Given the description of an element on the screen output the (x, y) to click on. 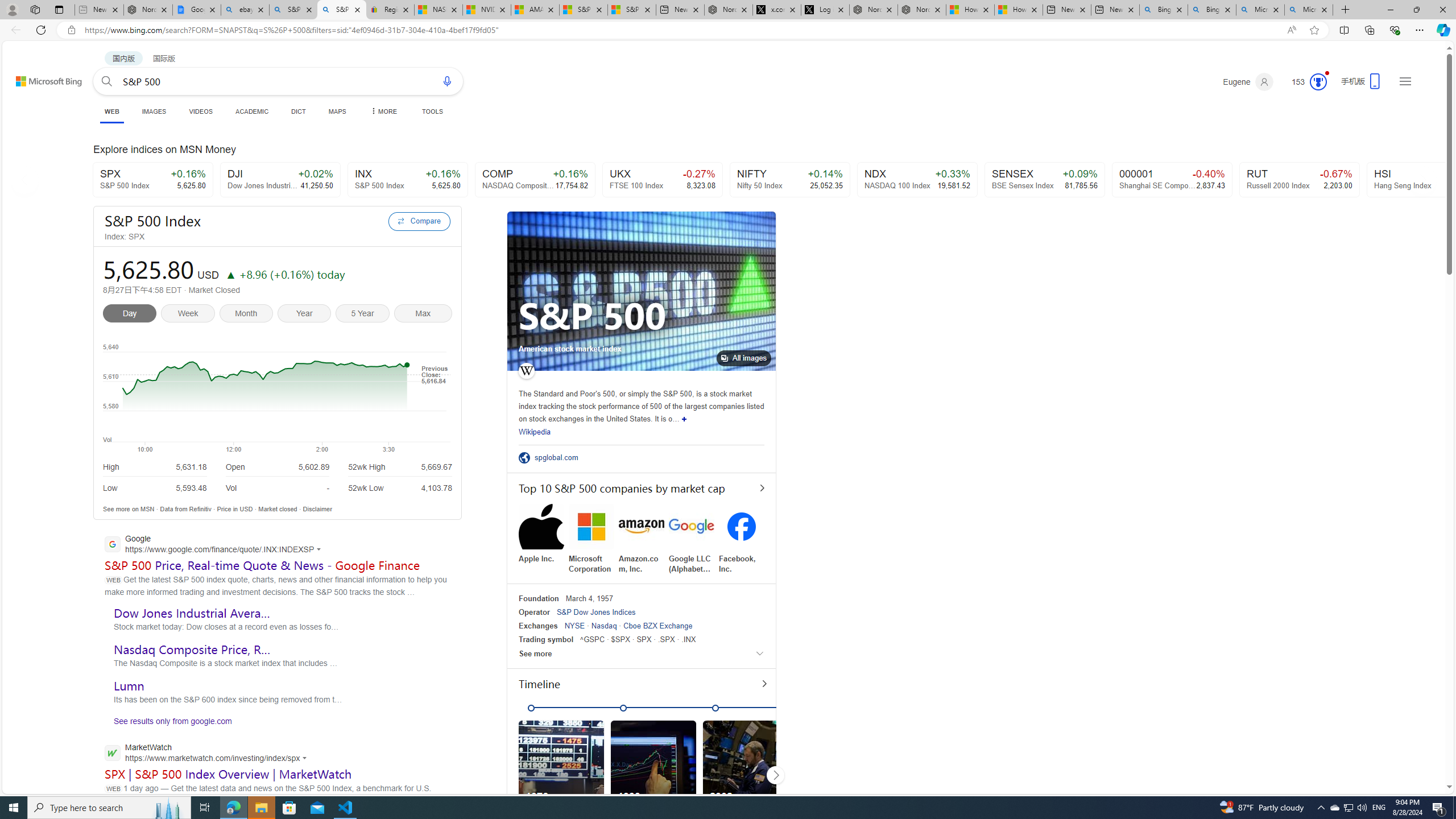
5 Year (364, 314)
TOOLS (431, 111)
Facebook, Inc. (741, 538)
Amazon.com, Inc. (640, 538)
Click to scroll right (775, 774)
Actions for this site (306, 757)
Back to Bing search (41, 78)
Timeline (647, 686)
Amazon.com, Inc. (640, 538)
000001 -0.40% Shanghai SE Composite Index 2,837.43 (1171, 179)
